Given the description of an element on the screen output the (x, y) to click on. 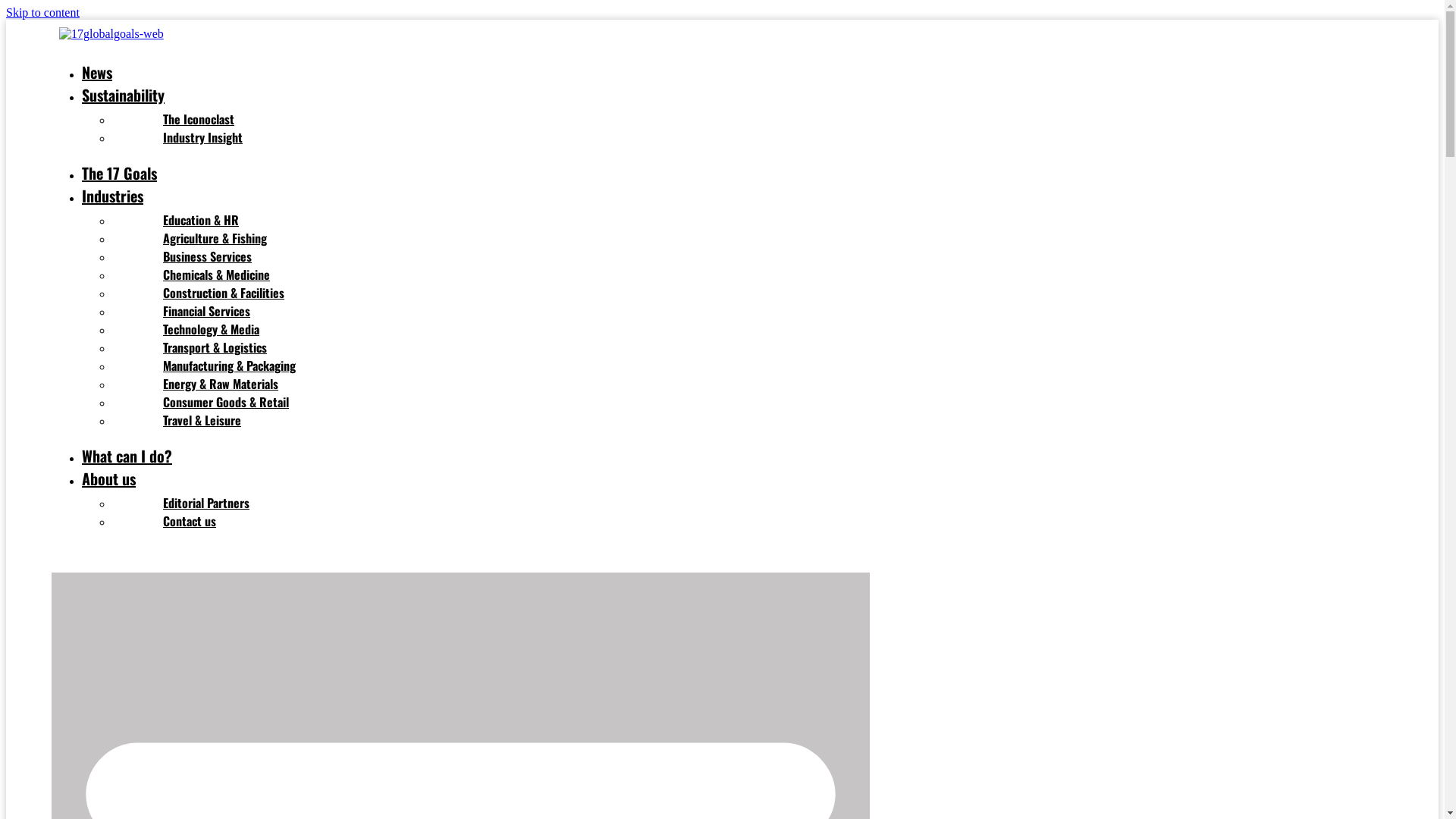
Technology & Media Element type: text (211, 329)
Construction & Facilities Element type: text (223, 292)
About us Element type: text (108, 478)
Manufacturing & Packaging Element type: text (229, 365)
Skip to content Element type: text (42, 12)
Travel & Leisure Element type: text (201, 420)
Industries Element type: text (112, 195)
Business Services Element type: text (207, 256)
Sustainability Element type: text (122, 94)
Education & HR Element type: text (200, 219)
Agriculture & Fishing Element type: text (214, 238)
Editorial Partners Element type: text (206, 502)
What can I do? Element type: text (126, 455)
Industry Insight Element type: text (202, 137)
Energy & Raw Materials Element type: text (220, 383)
The Iconoclast Element type: text (198, 118)
The 17 Goals Element type: text (118, 172)
Consumer Goods & Retail Element type: text (225, 401)
Contact us Element type: text (189, 520)
17globalgoals-web Element type: hover (111, 33)
Chemicals & Medicine Element type: text (216, 274)
Transport & Logistics Element type: text (214, 347)
News Element type: text (96, 72)
Financial Services Element type: text (206, 310)
